Given the description of an element on the screen output the (x, y) to click on. 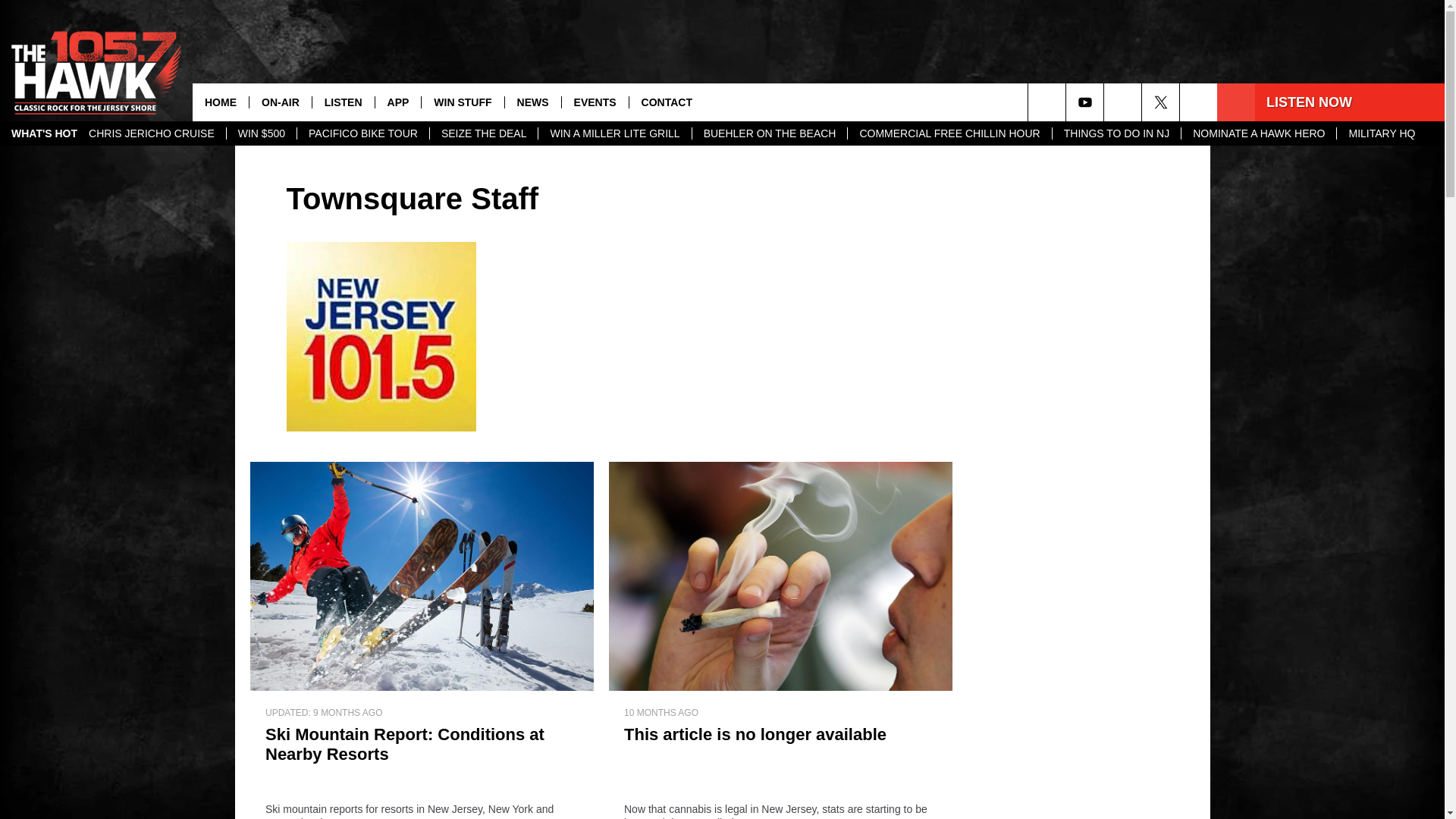
WIN STUFF (461, 102)
COMMERCIAL FREE CHILLIN HOUR (949, 133)
THINGS TO DO IN NJ (1115, 133)
LISTEN (342, 102)
CHRIS JERICHO CRUISE (151, 133)
ON-AIR (279, 102)
APP (398, 102)
HOME (220, 102)
MILITARY HQ (1381, 133)
BUEHLER ON THE BEACH (769, 133)
